Given the description of an element on the screen output the (x, y) to click on. 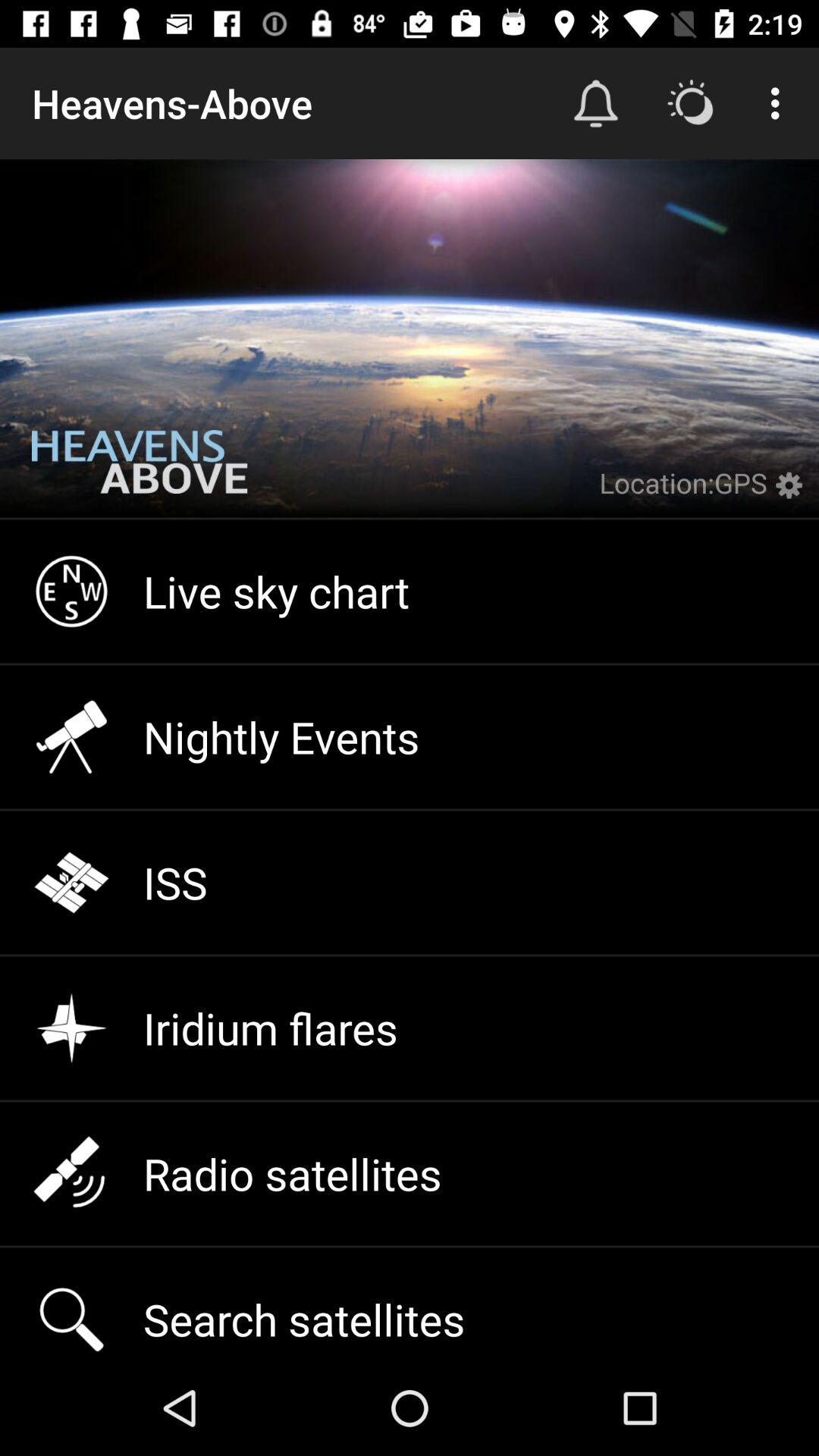
click item above the iss (409, 736)
